Given the description of an element on the screen output the (x, y) to click on. 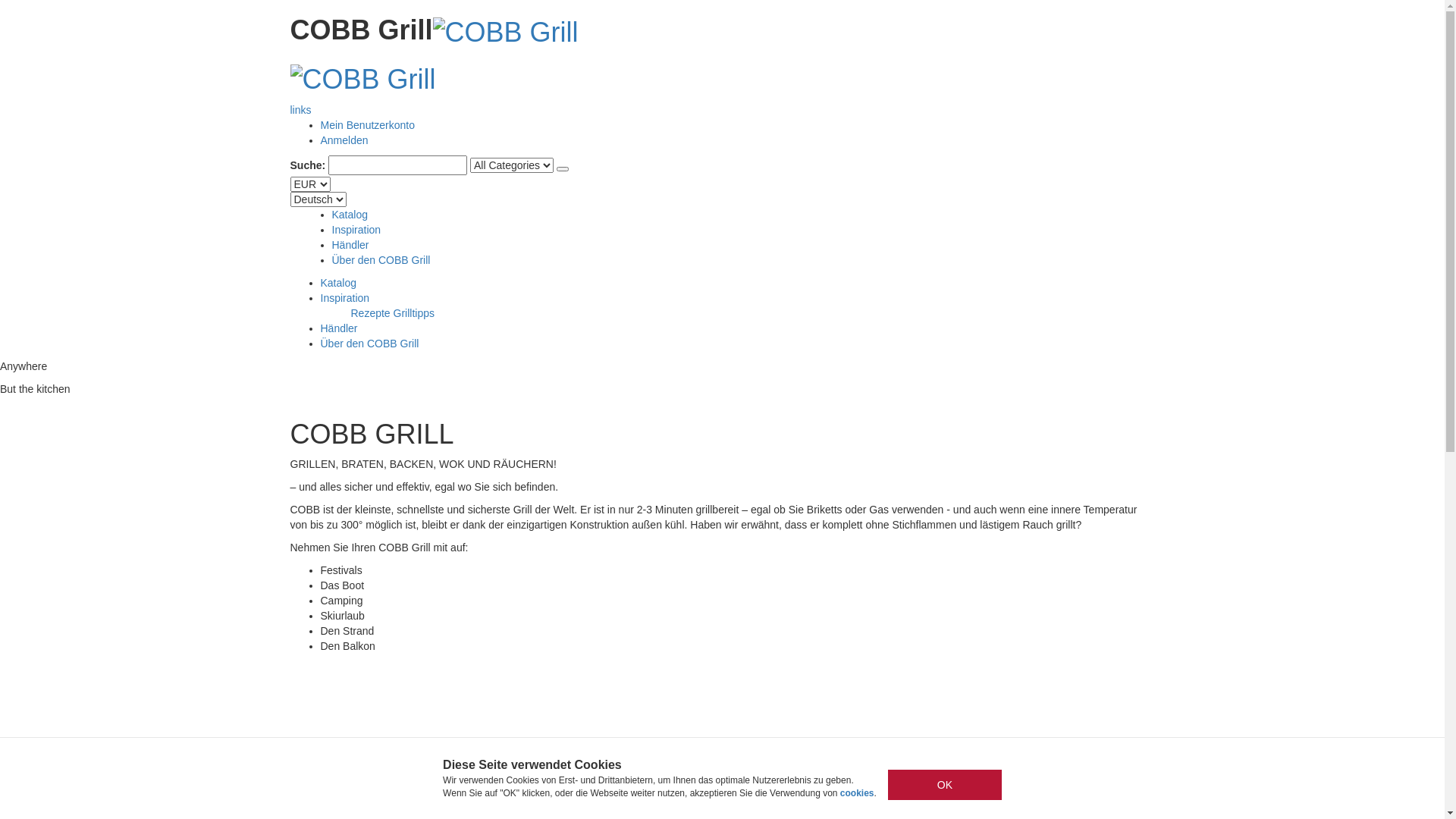
Mein Benutzerkonto Element type: text (367, 125)
cookies Element type: text (857, 792)
COBB Grill Element type: hover (505, 29)
Inspiration Element type: text (356, 229)
Katalog Element type: text (349, 214)
COBB Grill Element type: hover (362, 76)
Anmelden Element type: text (343, 140)
links Element type: text (299, 109)
OK Element type: text (944, 784)
Grilltipps Element type: text (413, 313)
Rezepte Element type: text (369, 313)
Search Element type: hover (562, 168)
Katalog Element type: text (337, 282)
Inspiration Element type: text (344, 297)
